Given the description of an element on the screen output the (x, y) to click on. 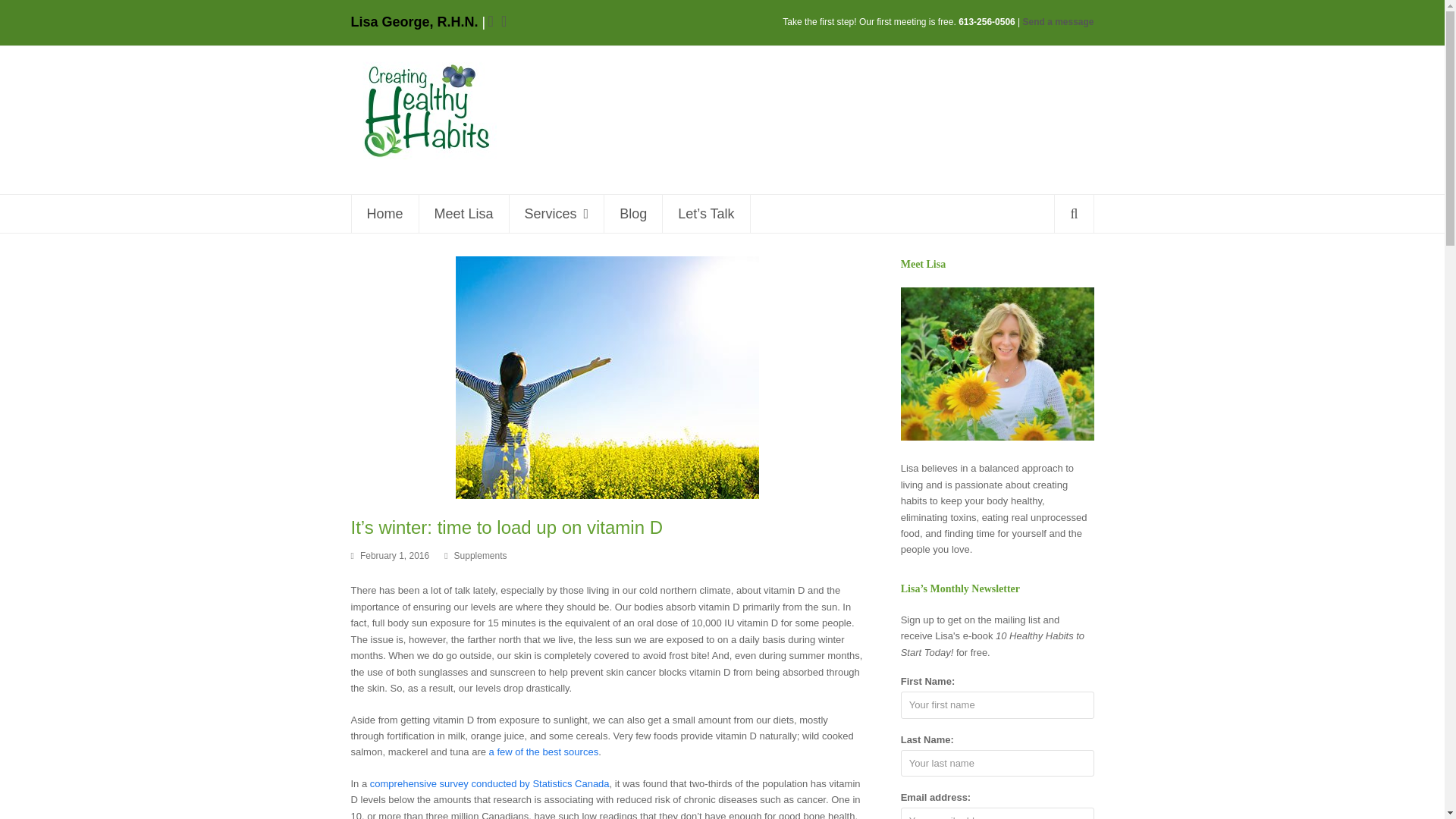
Home (385, 213)
Services (556, 213)
a few of the best sources (543, 751)
Send a message (1058, 21)
Supplements (480, 555)
Meet Lisa (463, 213)
Blog (633, 213)
Supplements (480, 555)
comprehensive survey conducted by Statistics Canada (489, 783)
